Given the description of an element on the screen output the (x, y) to click on. 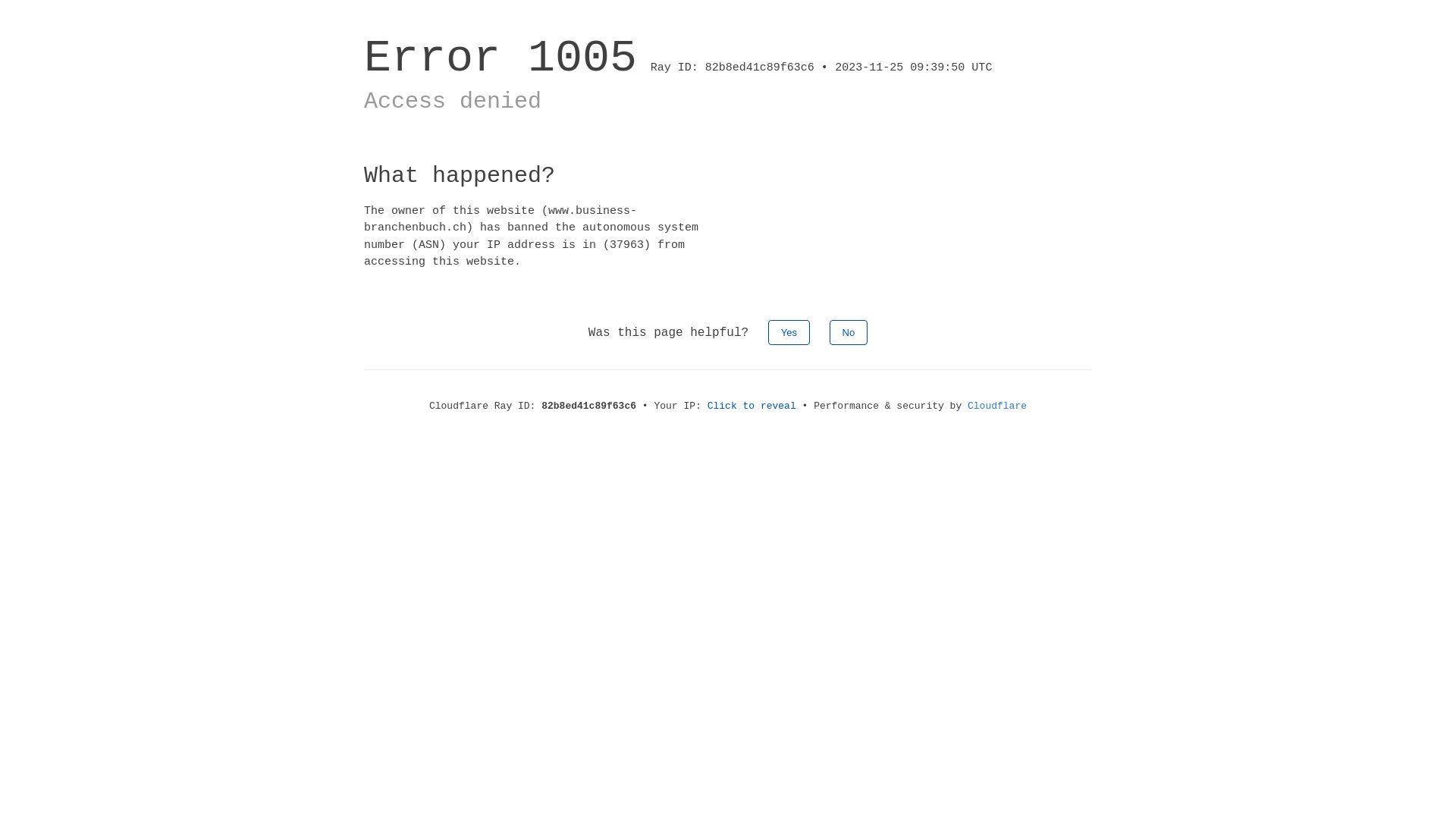
Yes Element type: text (788, 332)
No Element type: text (848, 332)
Cloudflare Element type: text (996, 405)
Click to reveal Element type: text (751, 405)
